Given the description of an element on the screen output the (x, y) to click on. 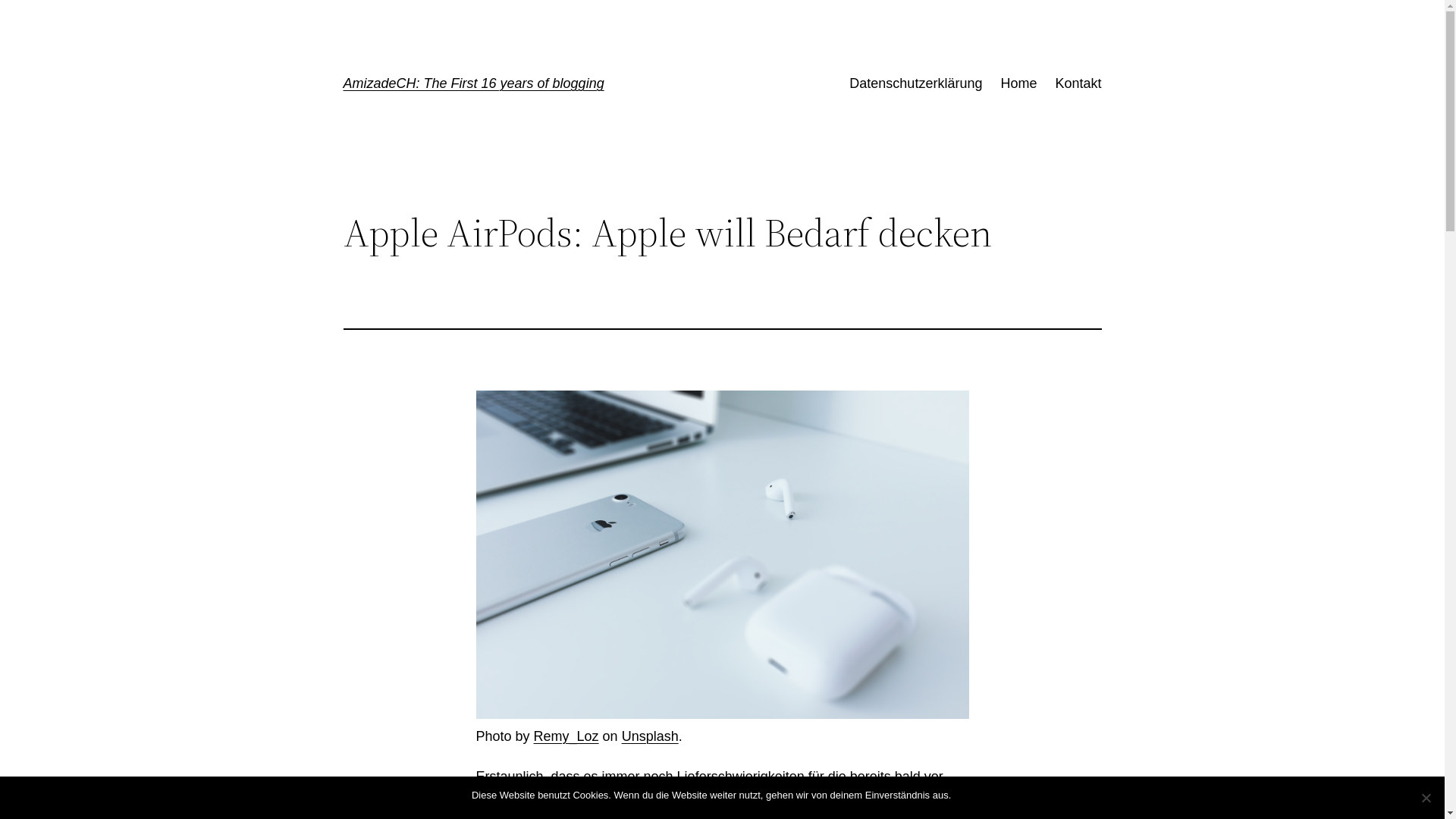
Kontakt Element type: text (1077, 83)
OK Element type: text (965, 795)
AmizadeCH: The First 16 years of blogging Element type: text (472, 83)
Unsplash Element type: text (649, 735)
Remy_Loz Element type: text (566, 735)
Nein Element type: hover (1425, 797)
Home Element type: text (1018, 83)
